Given the description of an element on the screen output the (x, y) to click on. 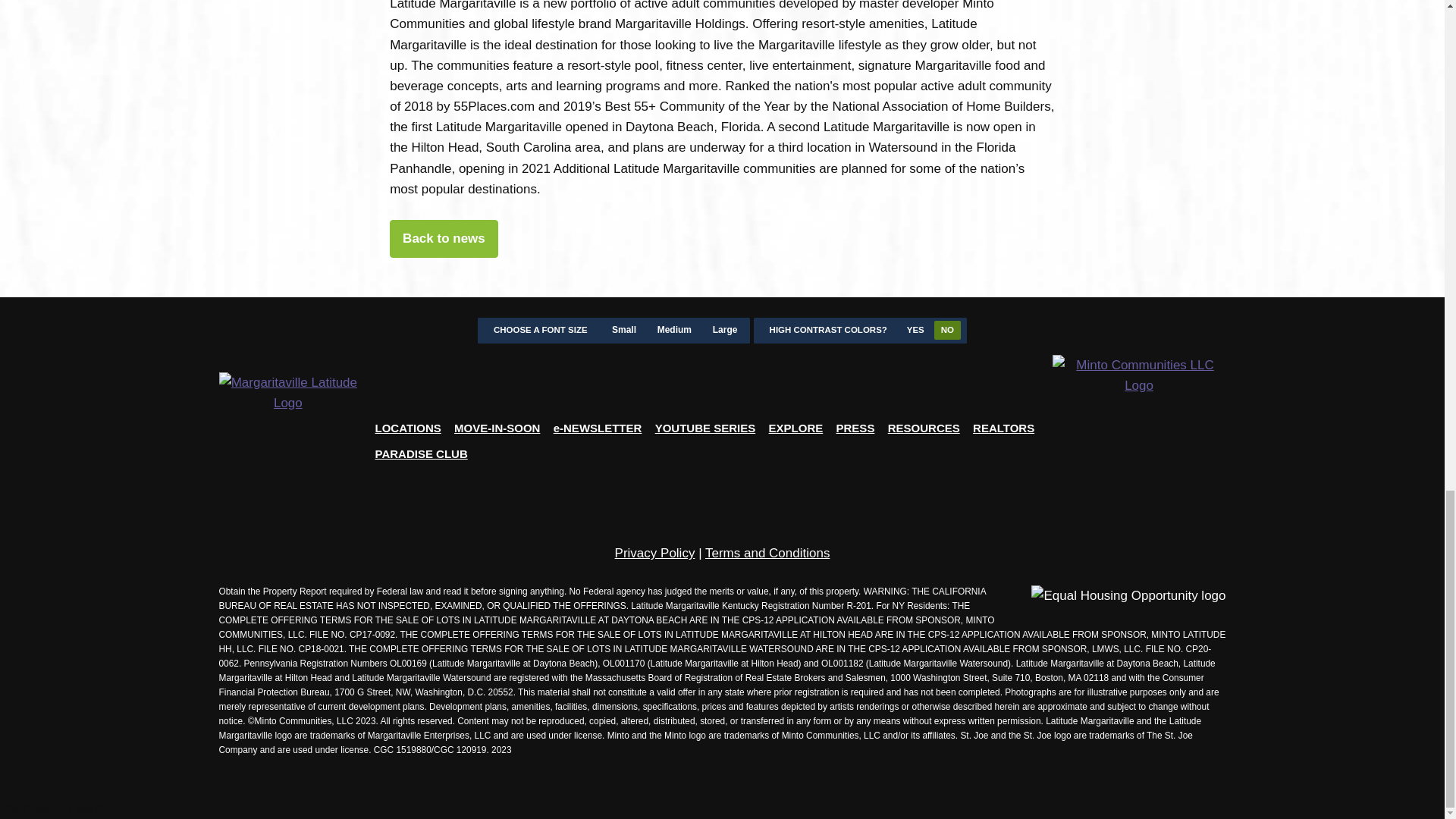
Back to news (443, 238)
NO (947, 330)
Large (724, 330)
Small (624, 330)
Medium (673, 330)
CHOOSE A FONT SIZE (539, 330)
YES (915, 330)
